Given the description of an element on the screen output the (x, y) to click on. 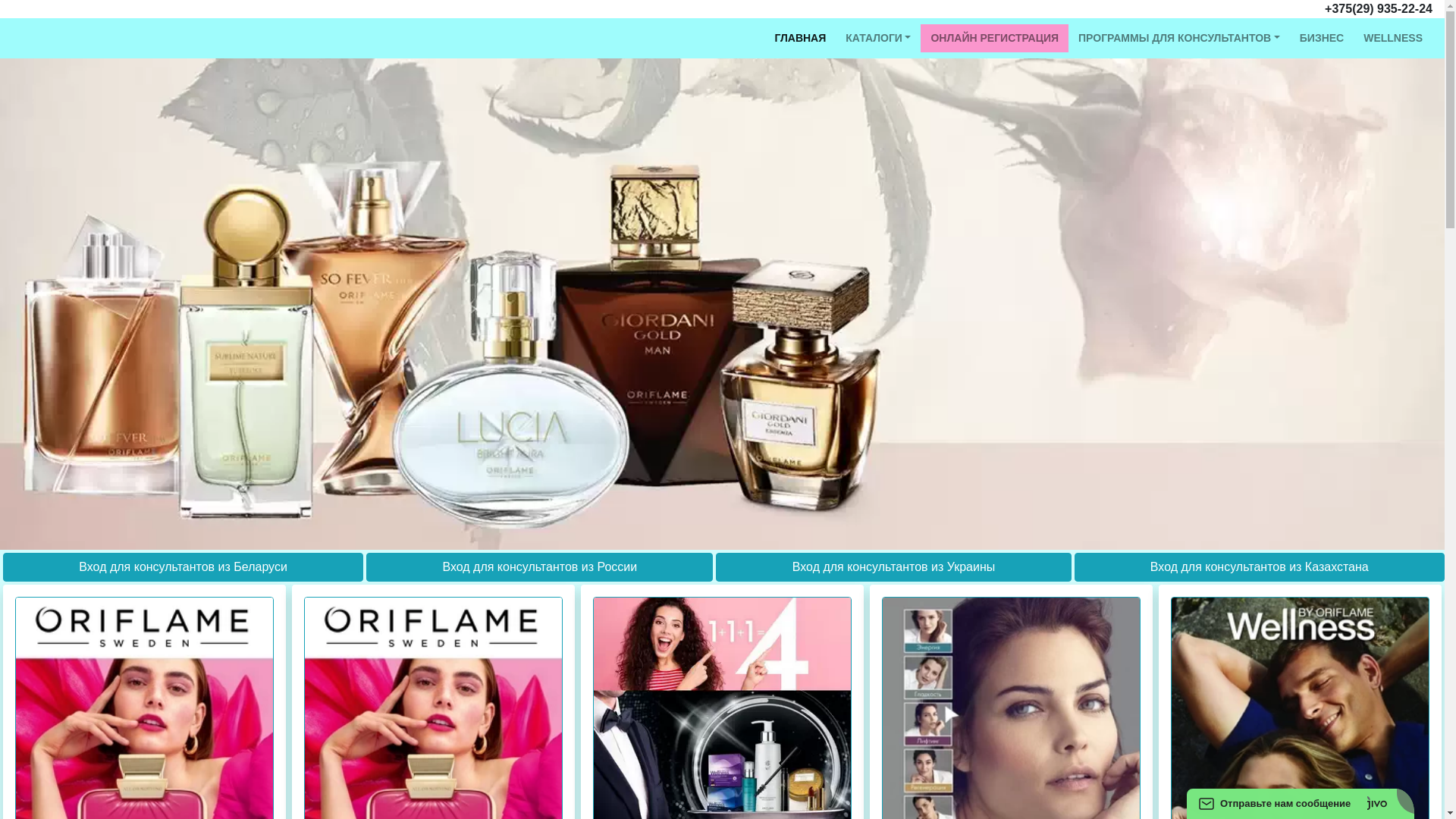
WELLNESS Element type: text (1392, 38)
